Given the description of an element on the screen output the (x, y) to click on. 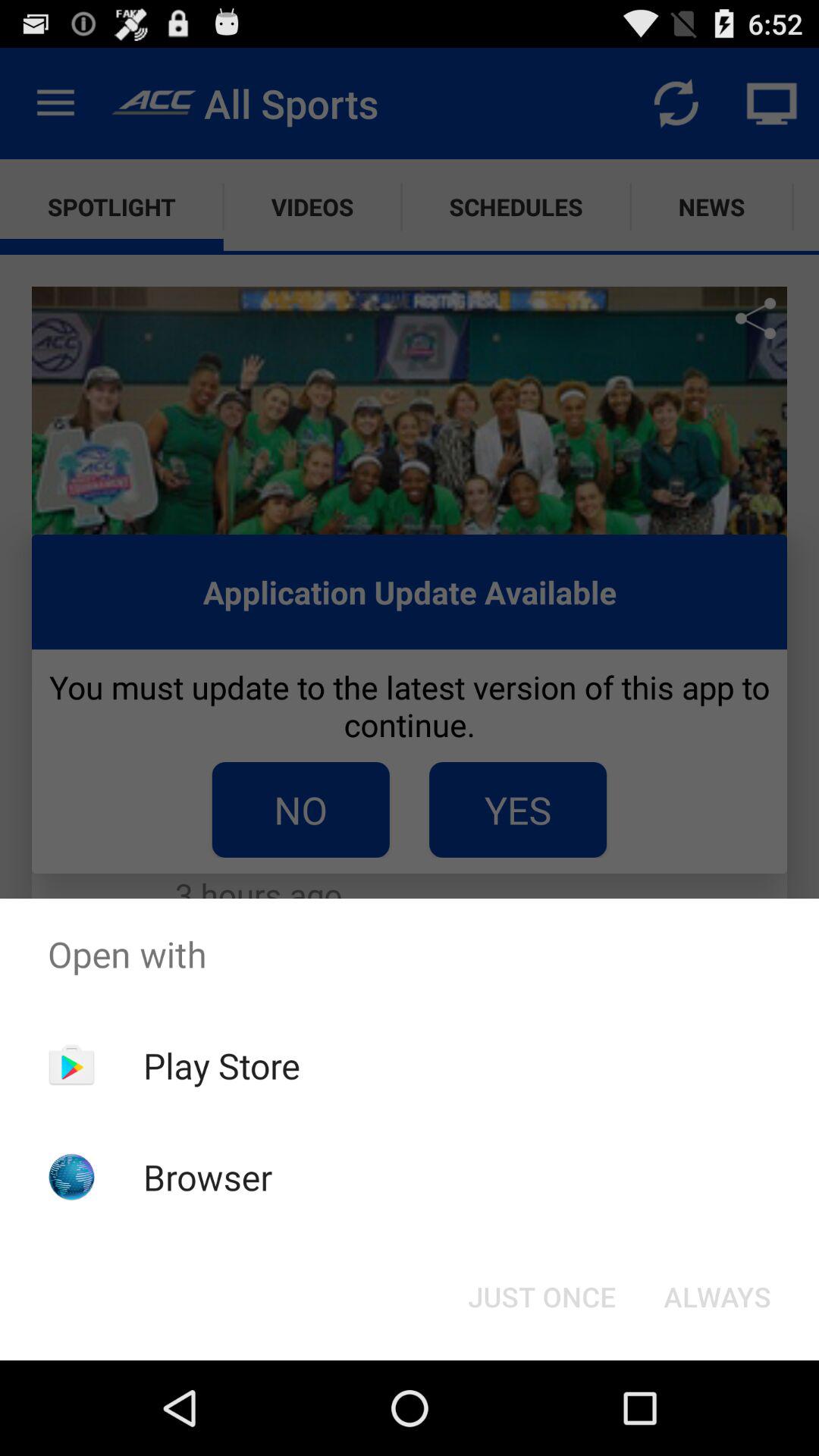
turn off browser item (207, 1176)
